Given the description of an element on the screen output the (x, y) to click on. 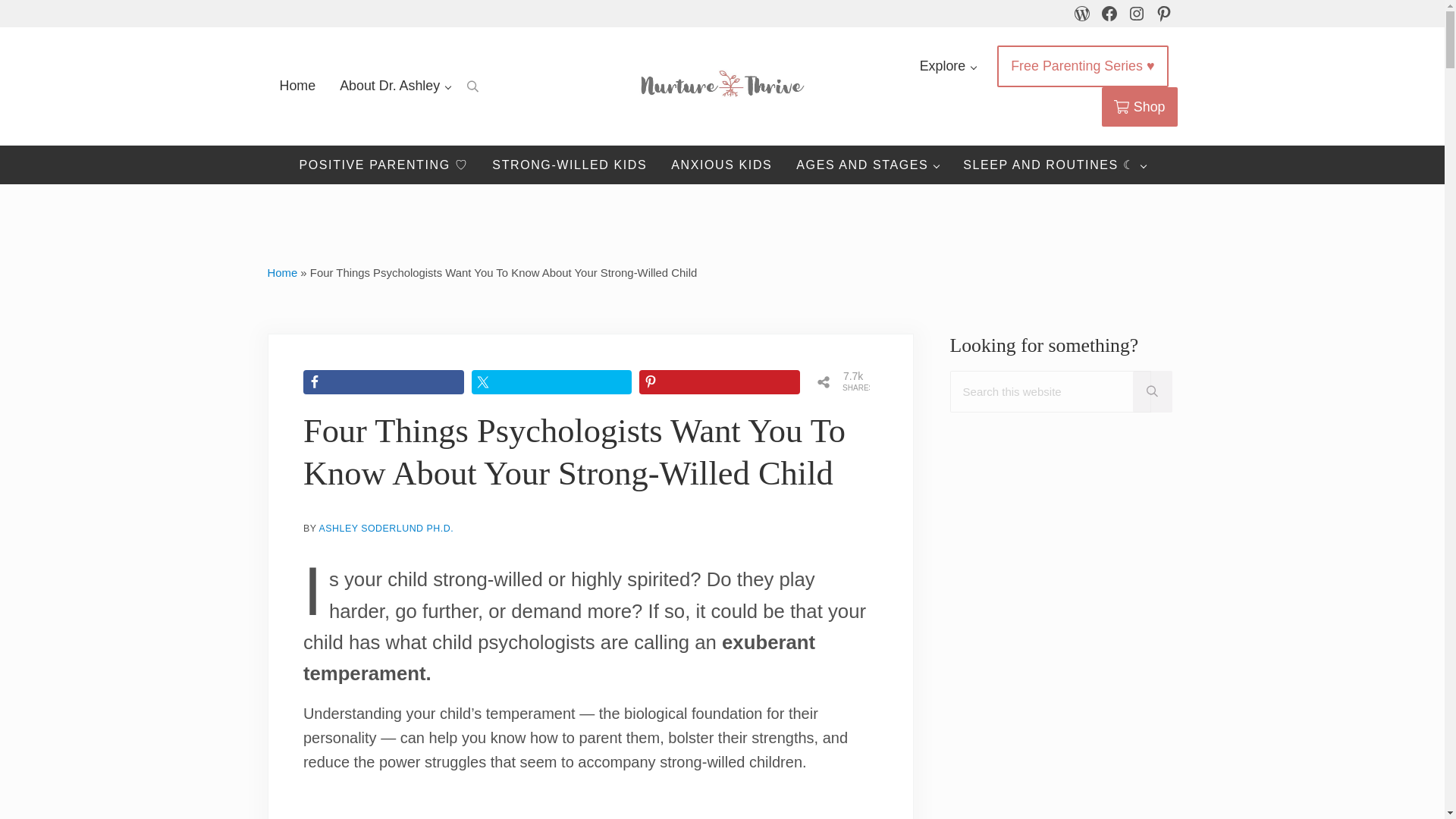
Shop (1139, 106)
WordPress (1080, 13)
About Dr. Ashley (395, 86)
STRONG-WILLED KIDS (569, 165)
ANXIOUS KIDS (721, 165)
Instagram (1136, 13)
Share on Twitter (551, 381)
Share on Pinterest (719, 381)
Home (281, 272)
Facebook (1108, 13)
Pinterest (1163, 13)
Share on Facebook (383, 381)
Explore (947, 65)
Home (296, 86)
